Given the description of an element on the screen output the (x, y) to click on. 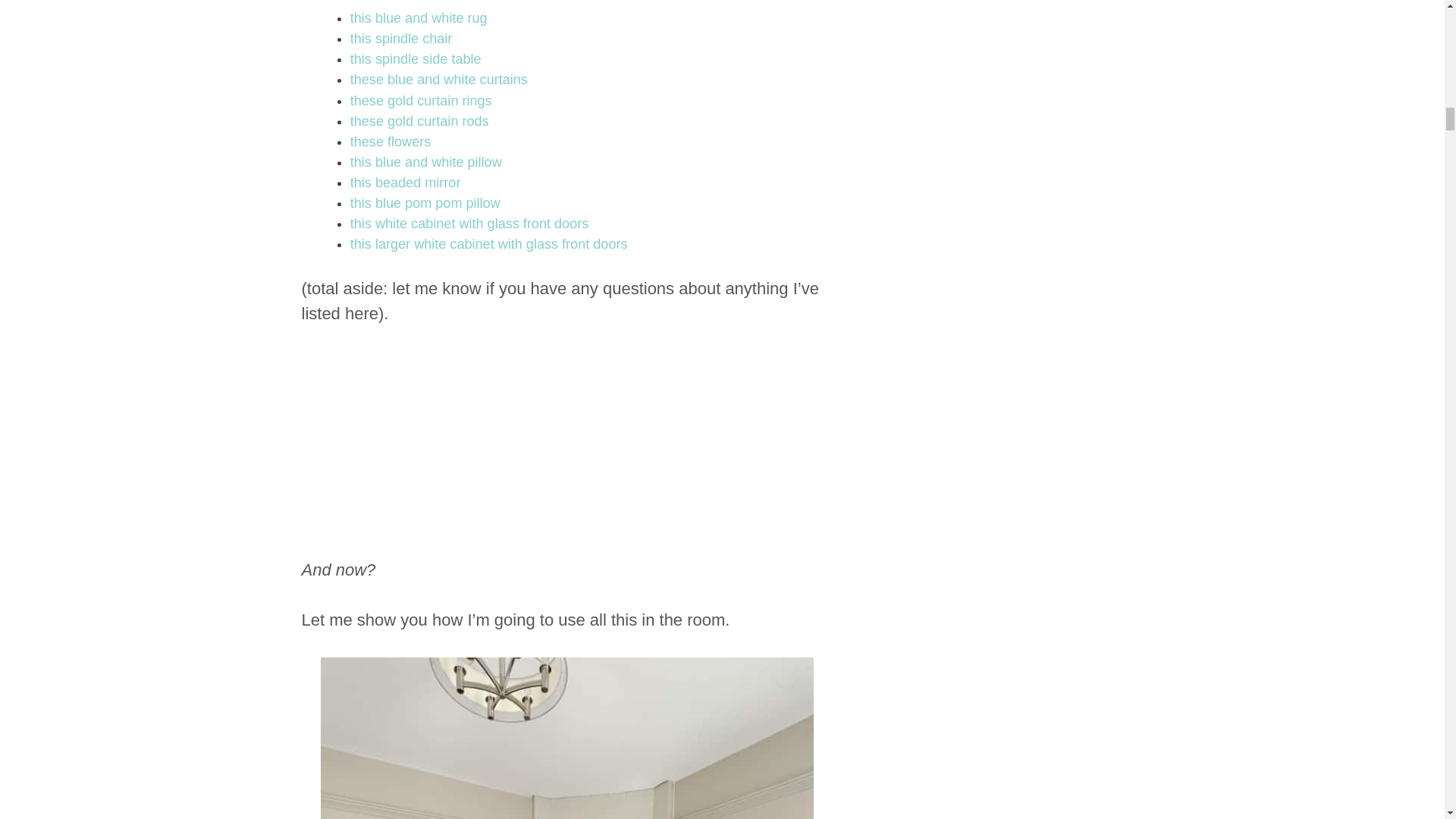
this spindle side table (415, 58)
this spindle chair (401, 38)
these gold curtain rods (419, 120)
these gold curtain rings (421, 100)
this blue and white rug (418, 17)
these blue and white curtains (438, 79)
